Given the description of an element on the screen output the (x, y) to click on. 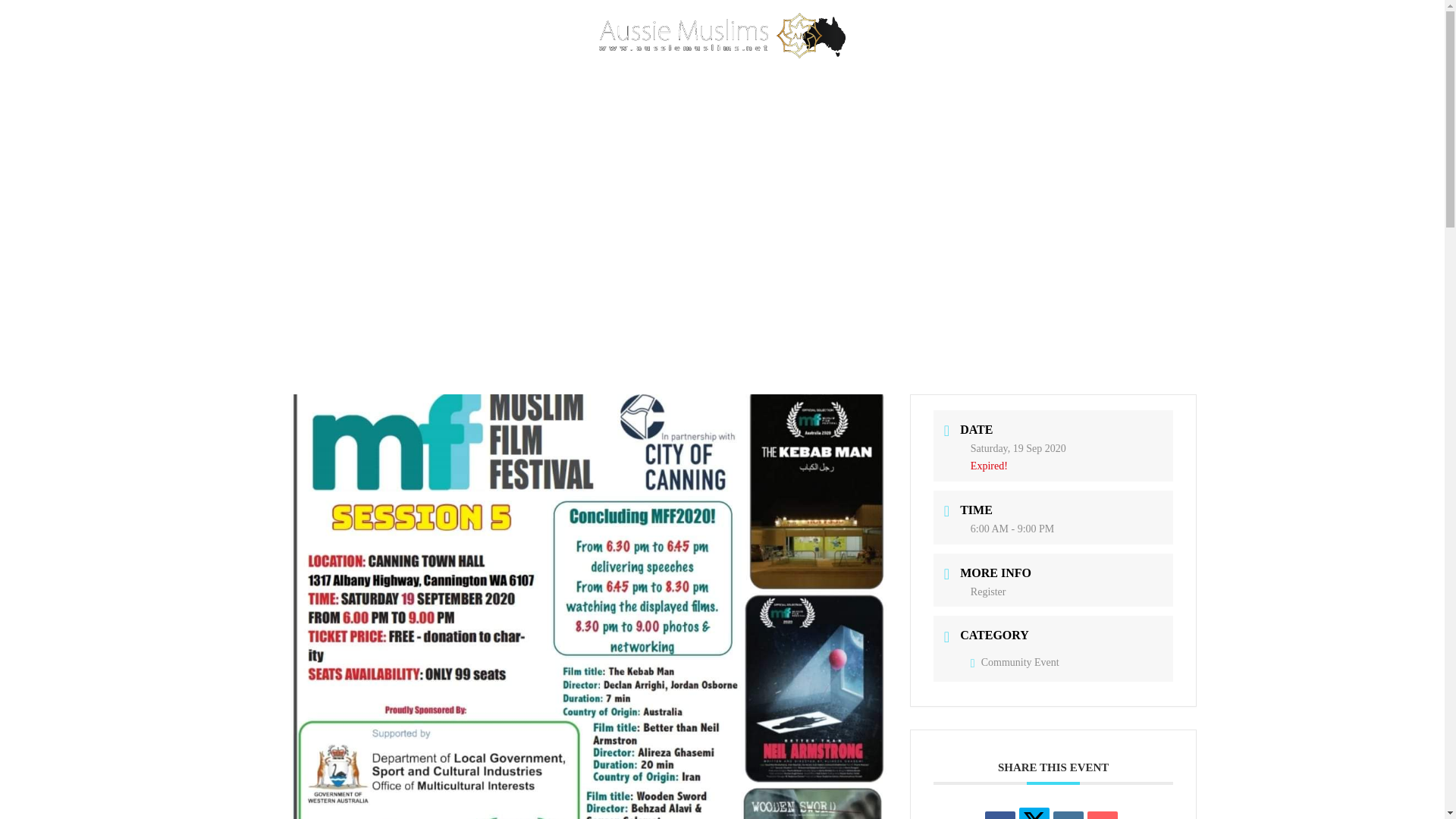
X Social Network (1034, 813)
Email (1102, 815)
Share on Facebook (999, 815)
Linkedin (1067, 815)
